Given the description of an element on the screen output the (x, y) to click on. 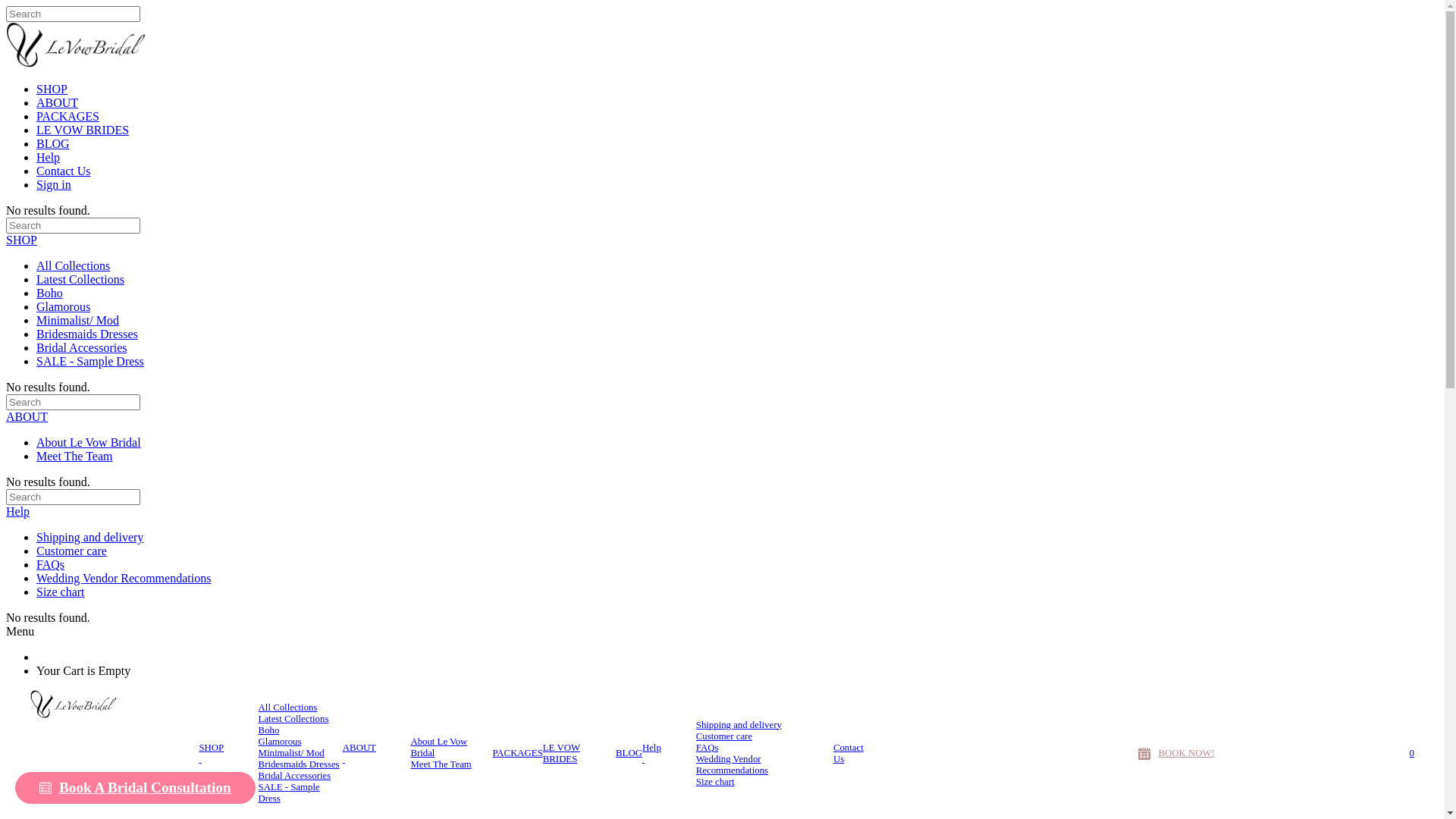
Latest Collections Element type: text (80, 279)
Boho Element type: text (268, 730)
Meet The Team Element type: text (74, 455)
Glamorous Element type: text (279, 741)
Help   Element type: text (653, 752)
Customer care Element type: text (724, 736)
PACKAGES Element type: text (517, 753)
Bridesmaids Dresses Element type: text (87, 333)
ABOUT   Element type: text (361, 752)
FAQs Element type: text (50, 564)
LE VOW BRIDES Element type: text (578, 752)
Wedding Vendor Recommendations Element type: text (123, 577)
Sign in Element type: text (53, 184)
About Le Vow Bridal Element type: text (451, 747)
Bridal Accessories Element type: text (81, 347)
SHOP   Element type: text (212, 752)
SALE - Sample Dress Element type: text (300, 792)
Le Vow Bridal Element type: hover (99, 704)
LE VOW BRIDES Element type: text (82, 129)
Book A Bridal Consultation Element type: text (135, 787)
All Collections Element type: text (72, 265)
Boho Element type: text (49, 292)
BLOG Element type: text (52, 143)
0 Element type: text (1411, 753)
Glamorous Element type: text (63, 306)
Shipping and delivery Element type: text (738, 724)
Meet The Team Element type: text (440, 764)
Customer care Element type: text (71, 550)
Size chart Element type: text (715, 781)
SHOP Element type: text (21, 239)
ABOUT Element type: text (57, 102)
PACKAGES Element type: text (67, 115)
Size chart Element type: text (60, 591)
Help Element type: text (17, 511)
BOOK NOW! Element type: text (1176, 753)
Wedding Vendor Recommendations Element type: text (764, 764)
Menu Element type: text (20, 630)
All Collections Element type: text (287, 707)
Minimalist/ Mod Element type: text (77, 319)
Bridal Accessories Element type: text (294, 775)
Minimalist/ Mod Element type: text (291, 753)
Help Element type: text (47, 156)
SHOP Element type: text (51, 88)
Shipping and delivery Element type: text (89, 536)
Contact Us Element type: text (63, 170)
Bridesmaids Dresses Element type: text (298, 764)
ABOUT Element type: text (26, 416)
FAQs Element type: text (707, 747)
Contact Us Element type: text (854, 752)
About Le Vow Bridal Element type: text (88, 442)
Latest Collections Element type: text (293, 718)
BLOG Element type: text (628, 753)
SALE - Sample Dress Element type: text (90, 360)
